Given the description of an element on the screen output the (x, y) to click on. 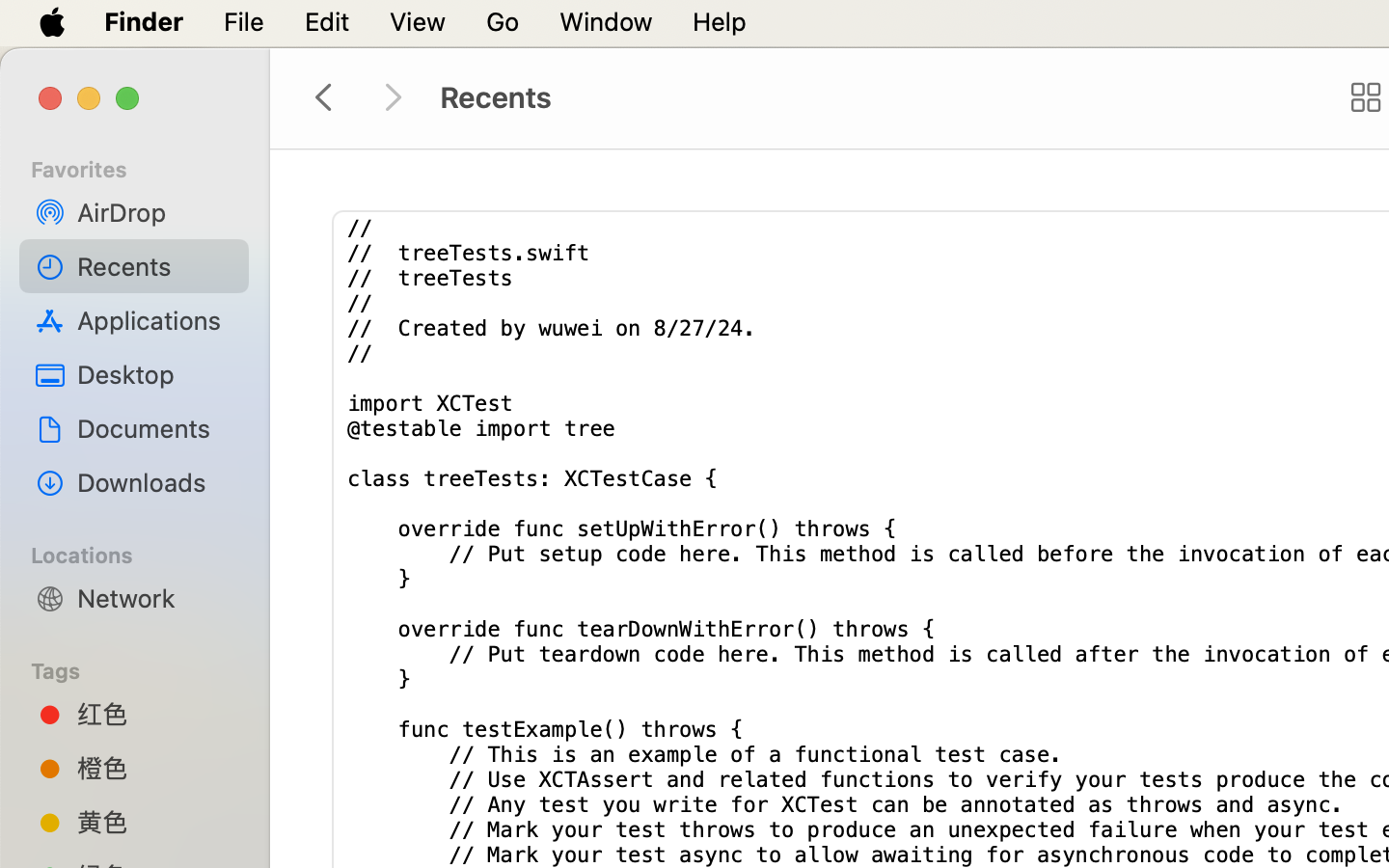
红色 Element type: AXStaticText (155, 713)
Locations Element type: AXStaticText (145, 552)
橙色 Element type: AXStaticText (155, 767)
